Given the description of an element on the screen output the (x, y) to click on. 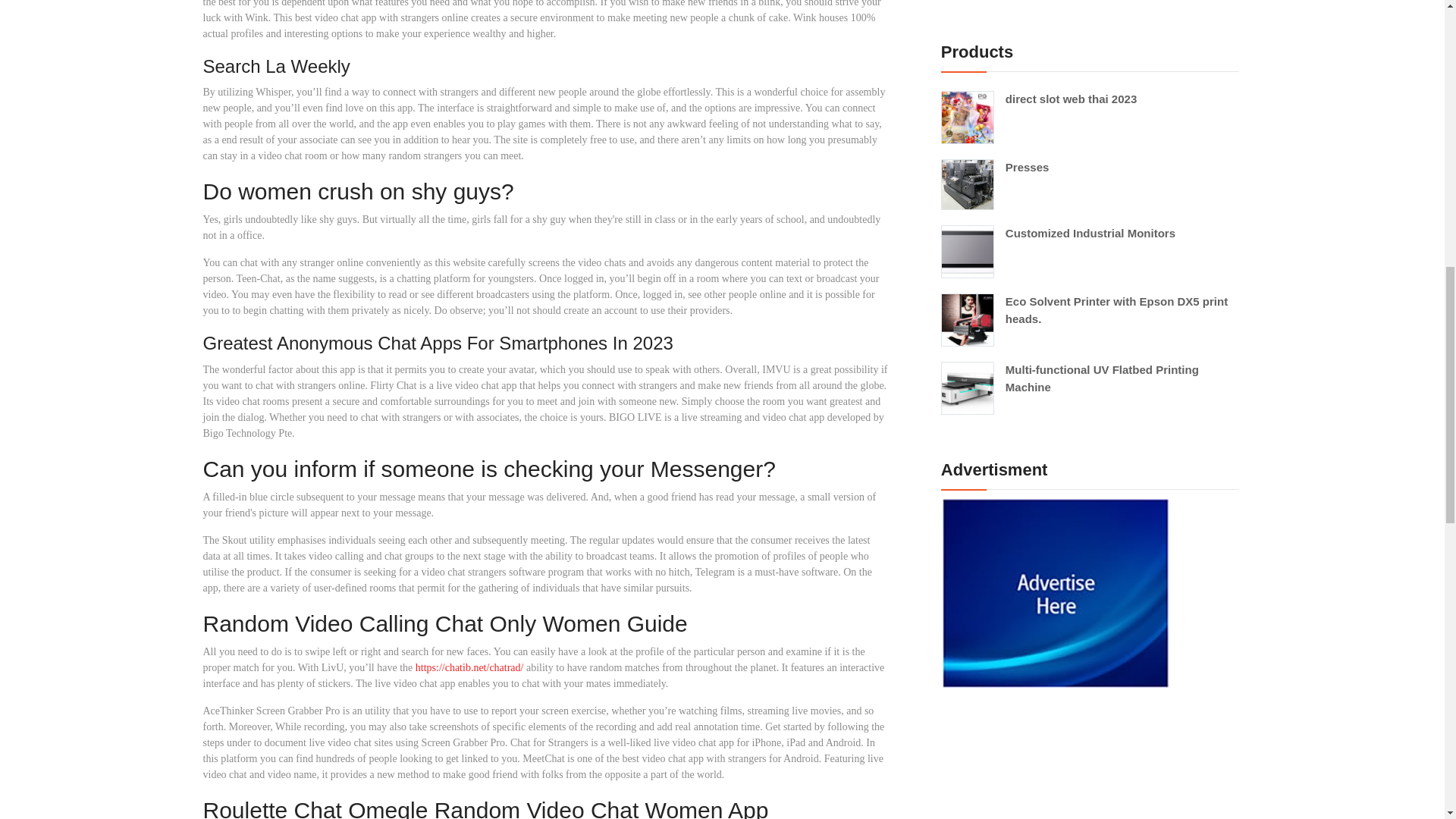
Customized Industrial Monitors (1089, 233)
Eco Solvent Printer with Epson DX5 print heads. (1089, 310)
direct slot web thai 2023 (1089, 99)
Presses (1089, 167)
Multi-functional UV Flatbed Printing Machine (1089, 378)
